Given the description of an element on the screen output the (x, y) to click on. 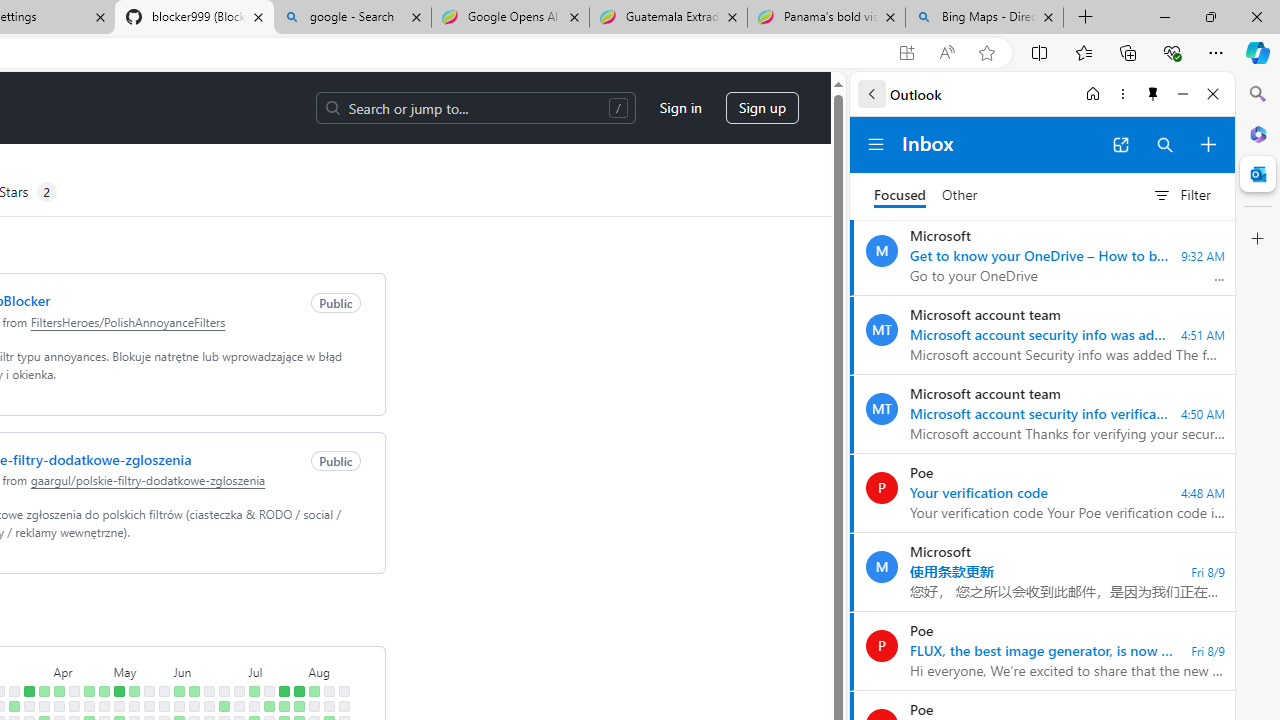
More options (1122, 93)
No contributions on June 3rd. (178, 706)
August (328, 670)
2 contributions on April 21st. (88, 691)
No contributions on May 26th. (163, 691)
No contributions on June 23rd. (223, 691)
Microsoft 365 (1258, 133)
Sign up (761, 107)
No contributions on May 19th. (148, 691)
3 contributions on August 4th. (314, 691)
No contributions on June 16th. (209, 691)
No contributions on August 18th. (343, 691)
Customize (1258, 239)
No contributions on May 6th. (118, 706)
